Given the description of an element on the screen output the (x, y) to click on. 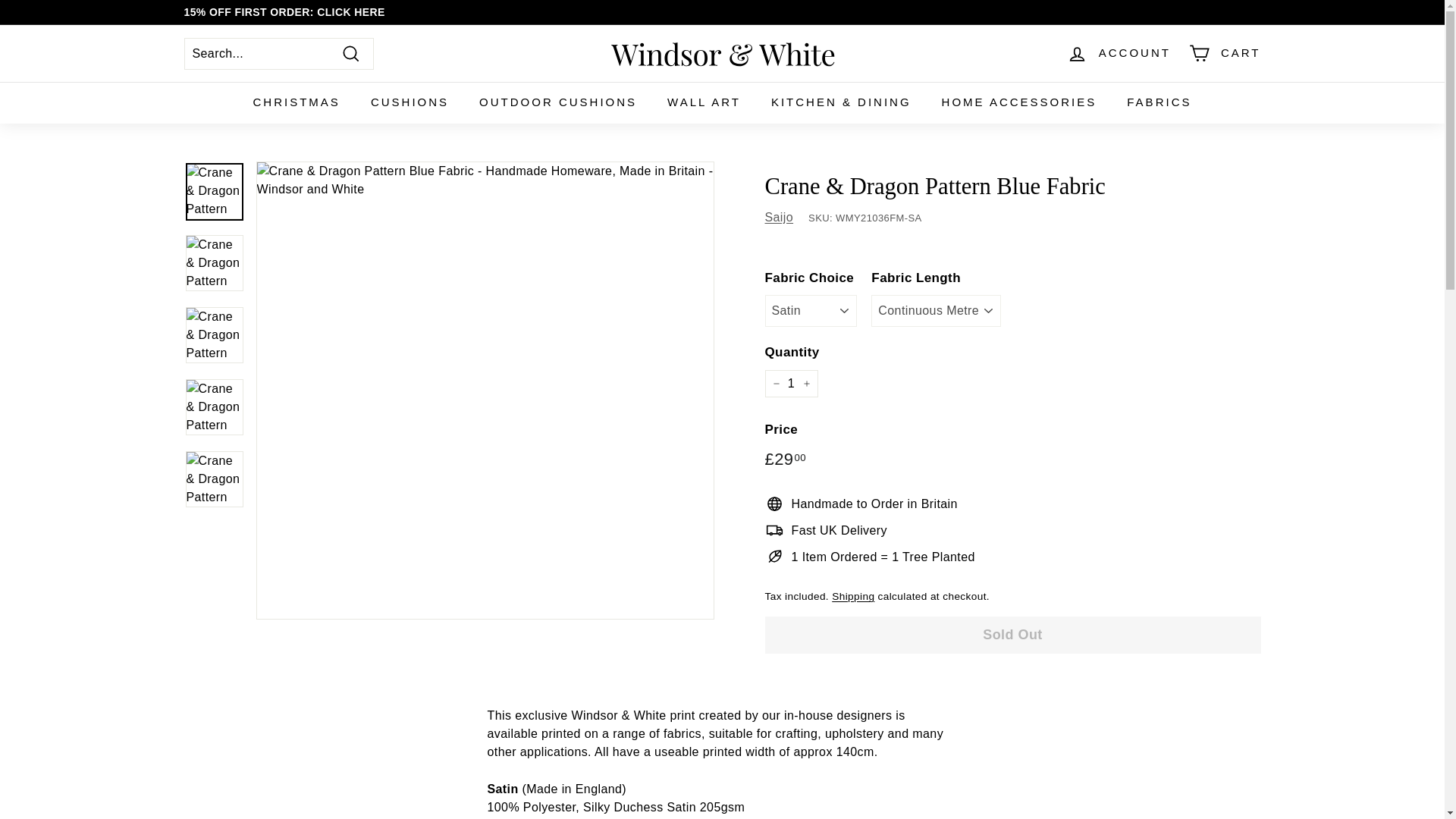
CHRISTMAS (296, 102)
ACCOUNT (1118, 53)
Saijo (778, 216)
1 (790, 383)
CUSHIONS (409, 102)
